Given the description of an element on the screen output the (x, y) to click on. 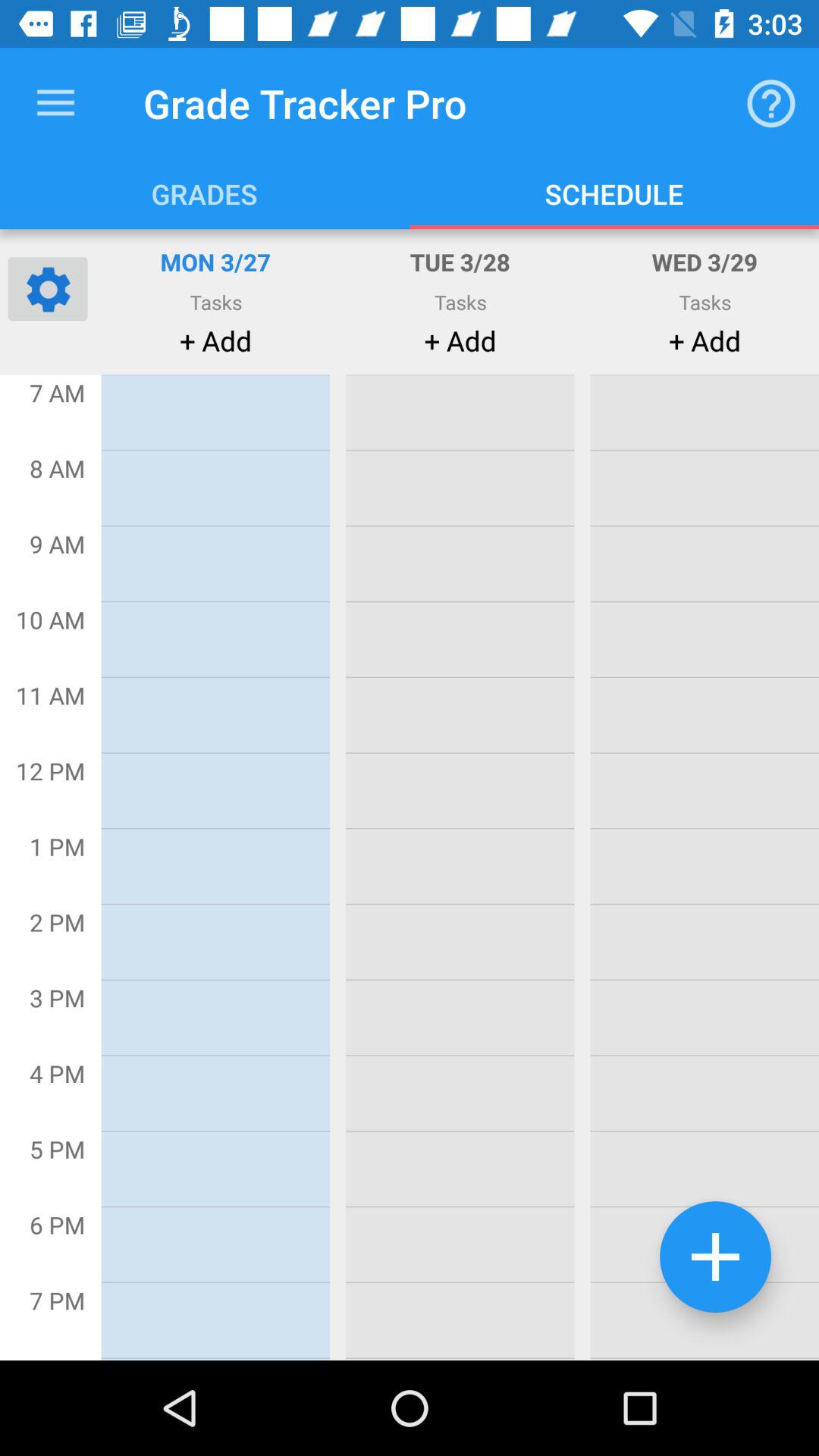
open menu (55, 103)
